Given the description of an element on the screen output the (x, y) to click on. 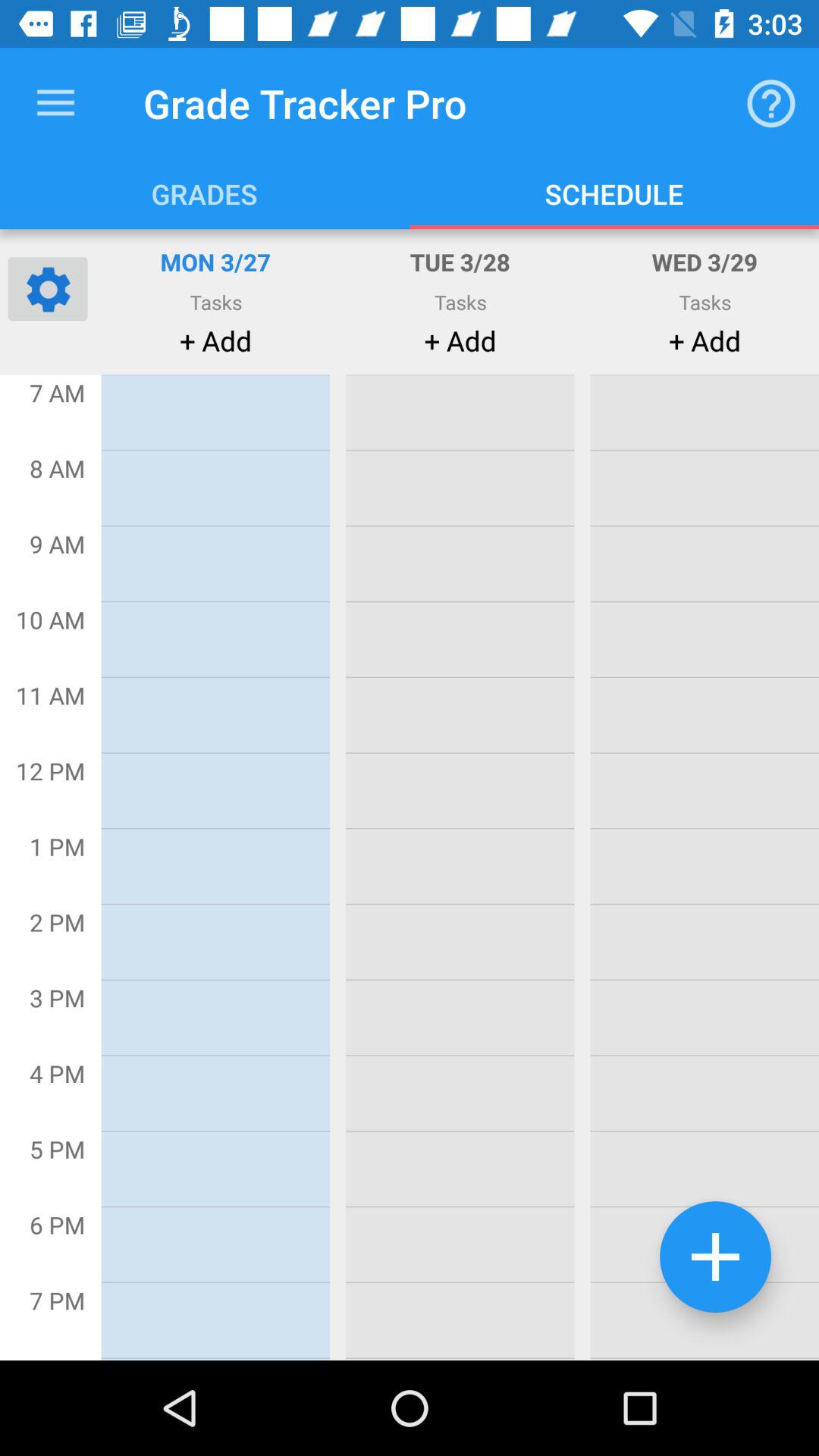
open menu (55, 103)
